Given the description of an element on the screen output the (x, y) to click on. 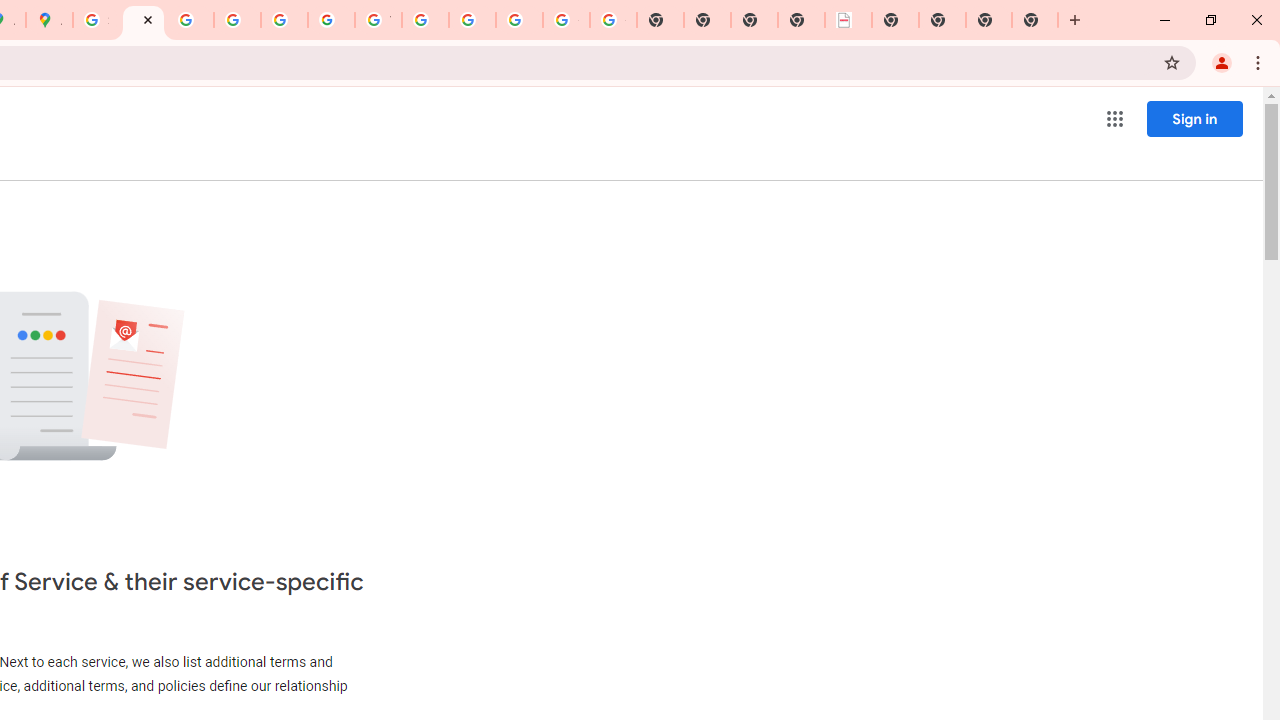
Privacy Help Center - Policies Help (189, 20)
New Tab (1035, 20)
Privacy Help Center - Policies Help (237, 20)
New Tab (989, 20)
LAAD Defence & Security 2025 | BAE Systems (848, 20)
New Tab (895, 20)
